Given the description of an element on the screen output the (x, y) to click on. 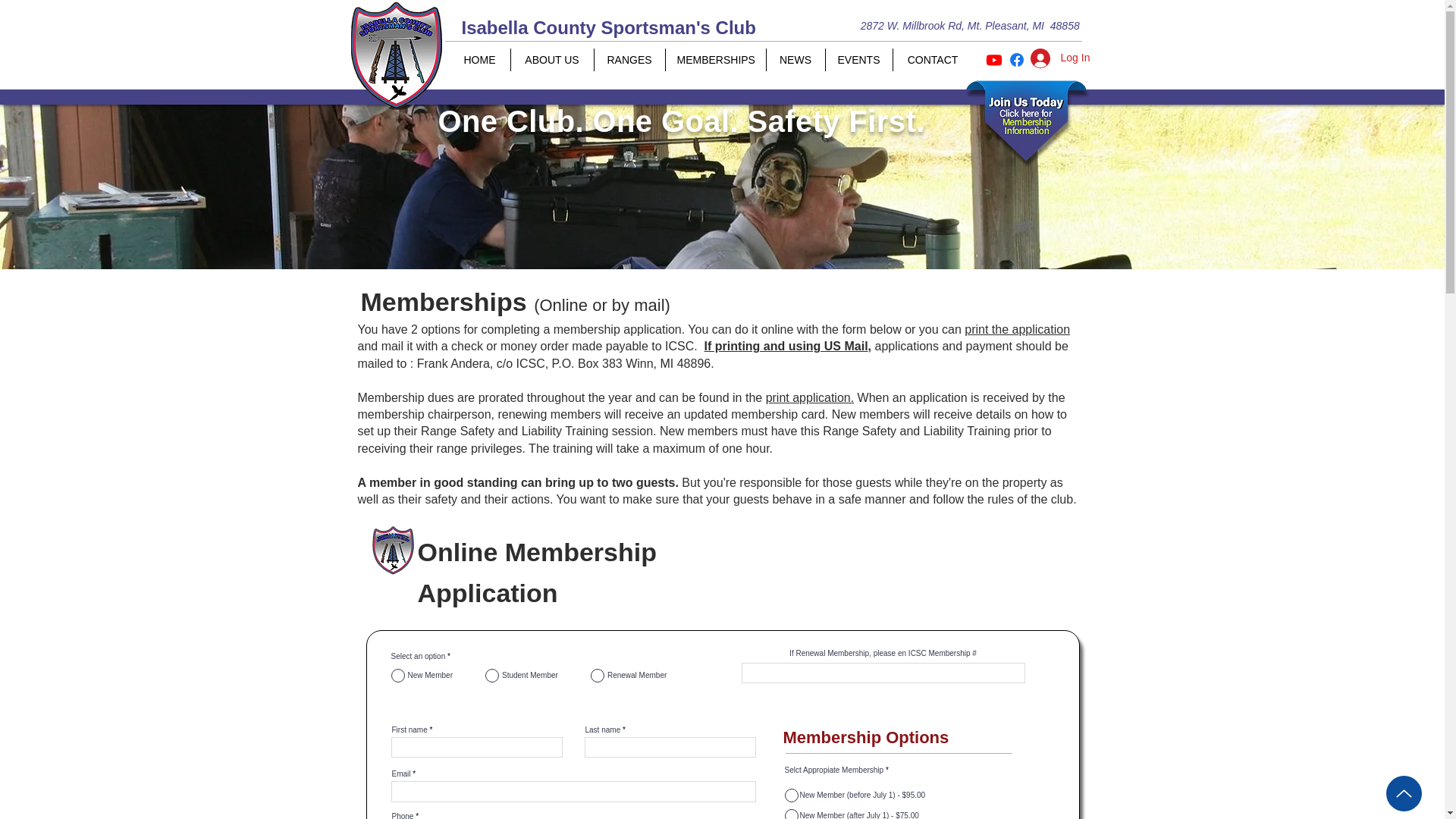
print application. (809, 397)
HOME (478, 59)
print the application (1016, 328)
ABOUT US (550, 59)
2872 W. Millbrook Rd, Mt. Pleasant, MI  48858   (973, 25)
RANGES (627, 59)
MEMBERSHIPS (714, 59)
Log In (1043, 58)
EVENTS (858, 59)
NEWS (795, 59)
